Given the description of an element on the screen output the (x, y) to click on. 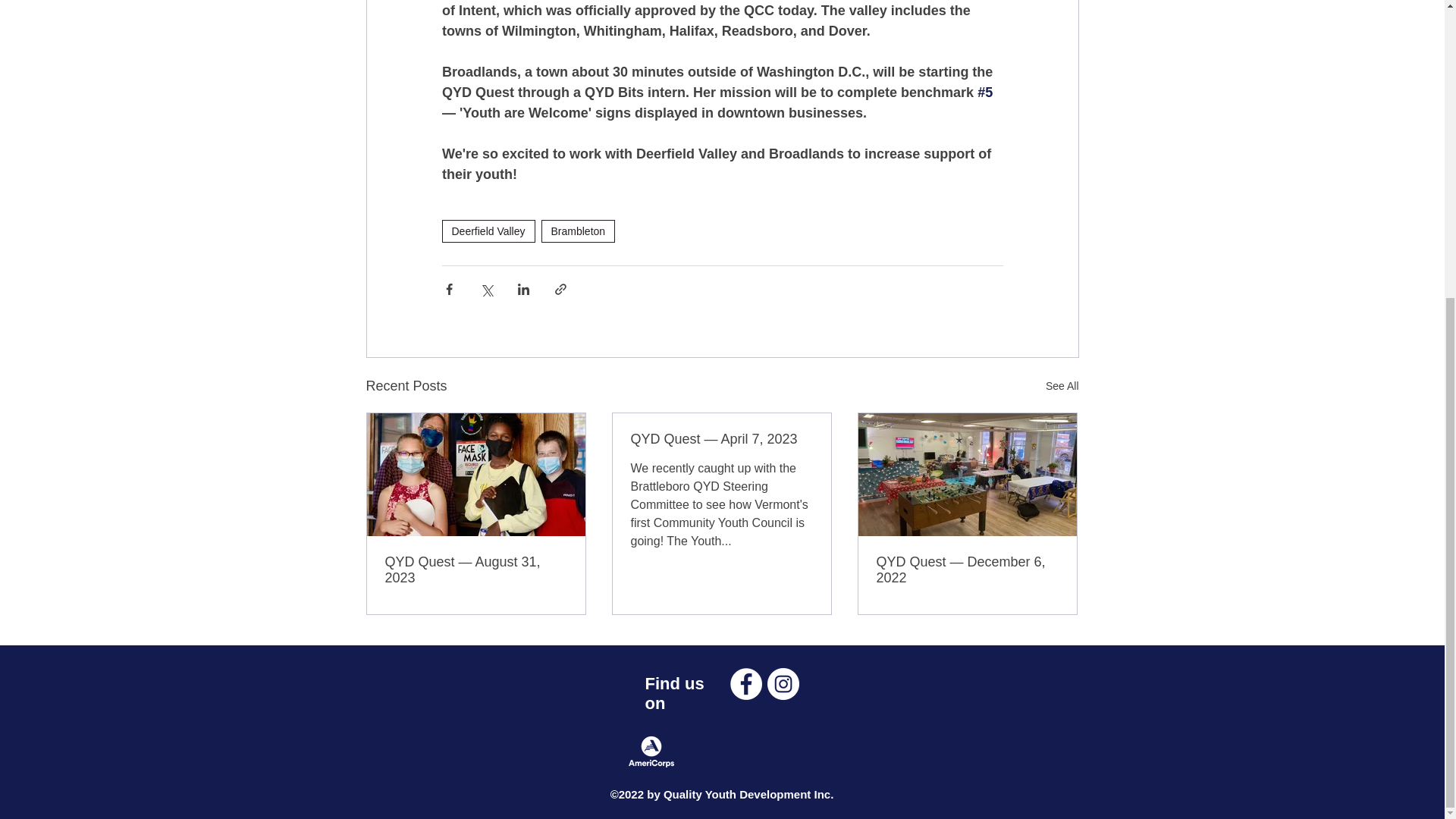
Brambleton (578, 231)
See All (1061, 386)
Deerfield Valley (487, 231)
